Given the description of an element on the screen output the (x, y) to click on. 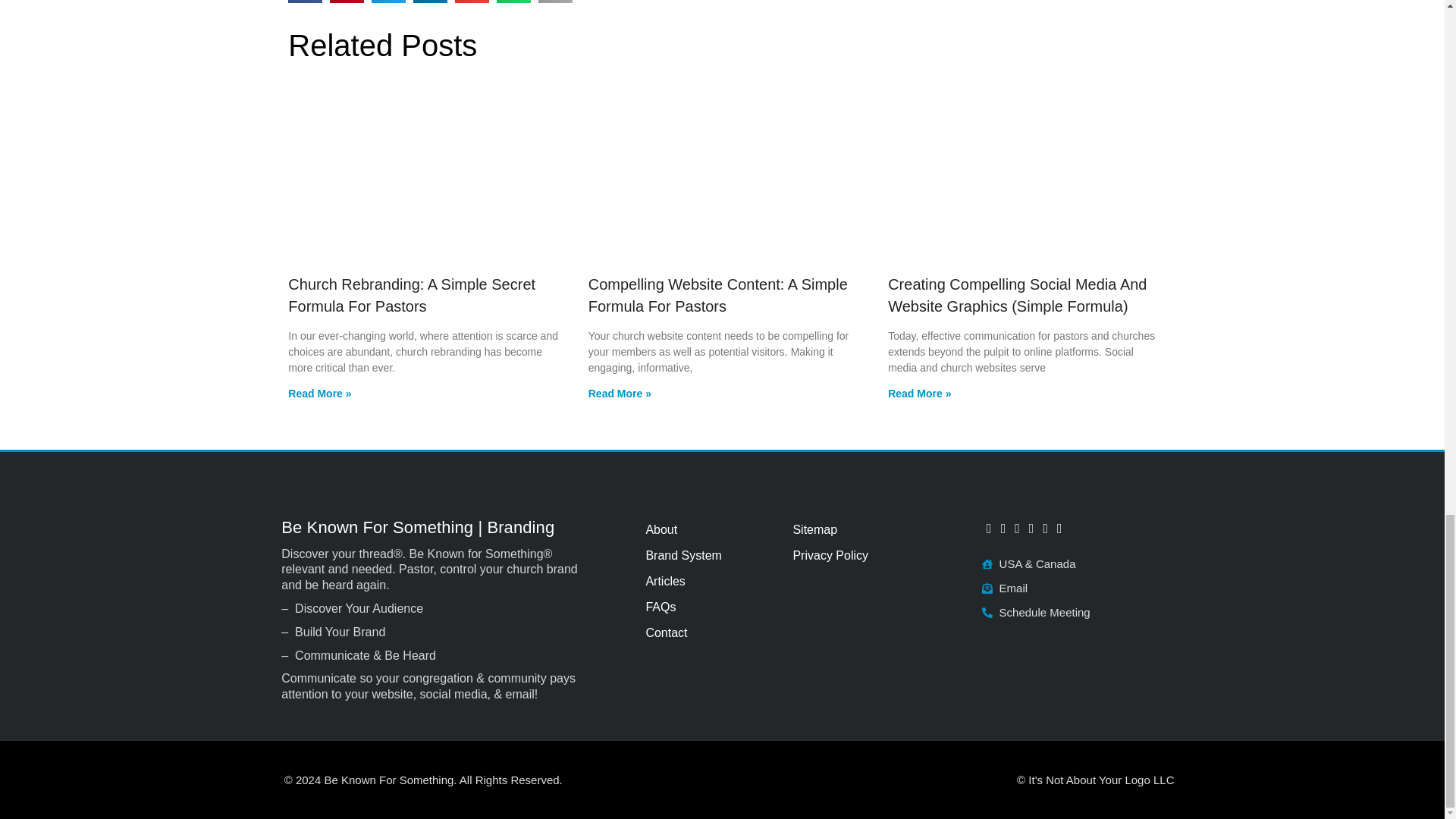
About (709, 529)
Compelling Website Content: A Simple Formula For Pastors (717, 295)
Church Rebranding: A Simple Secret Formula For Pastors (411, 295)
Articles (709, 581)
Brand System (709, 555)
